Given the description of an element on the screen output the (x, y) to click on. 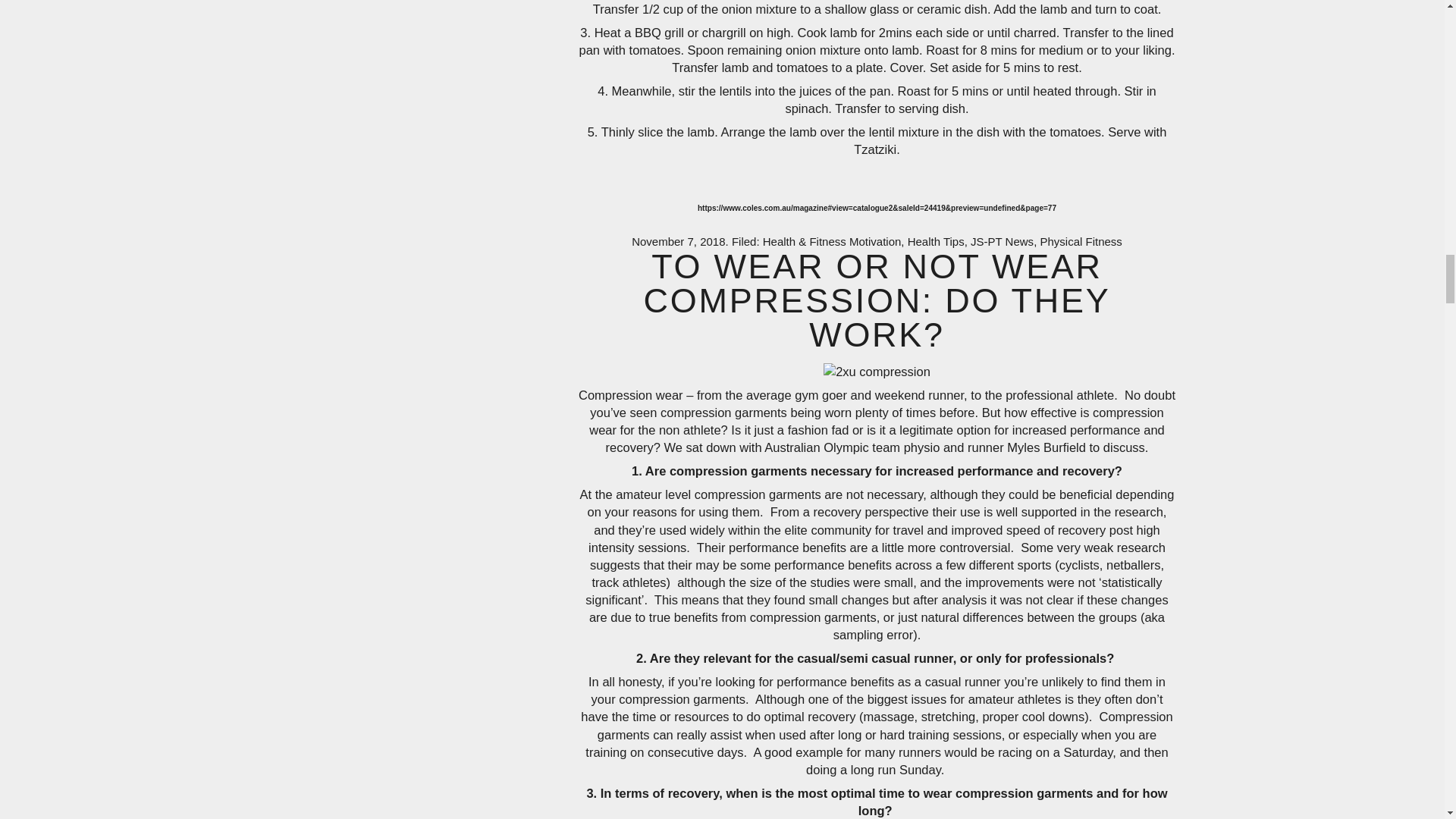
To wear or not wear compression: Do they work? (876, 300)
